Given the description of an element on the screen output the (x, y) to click on. 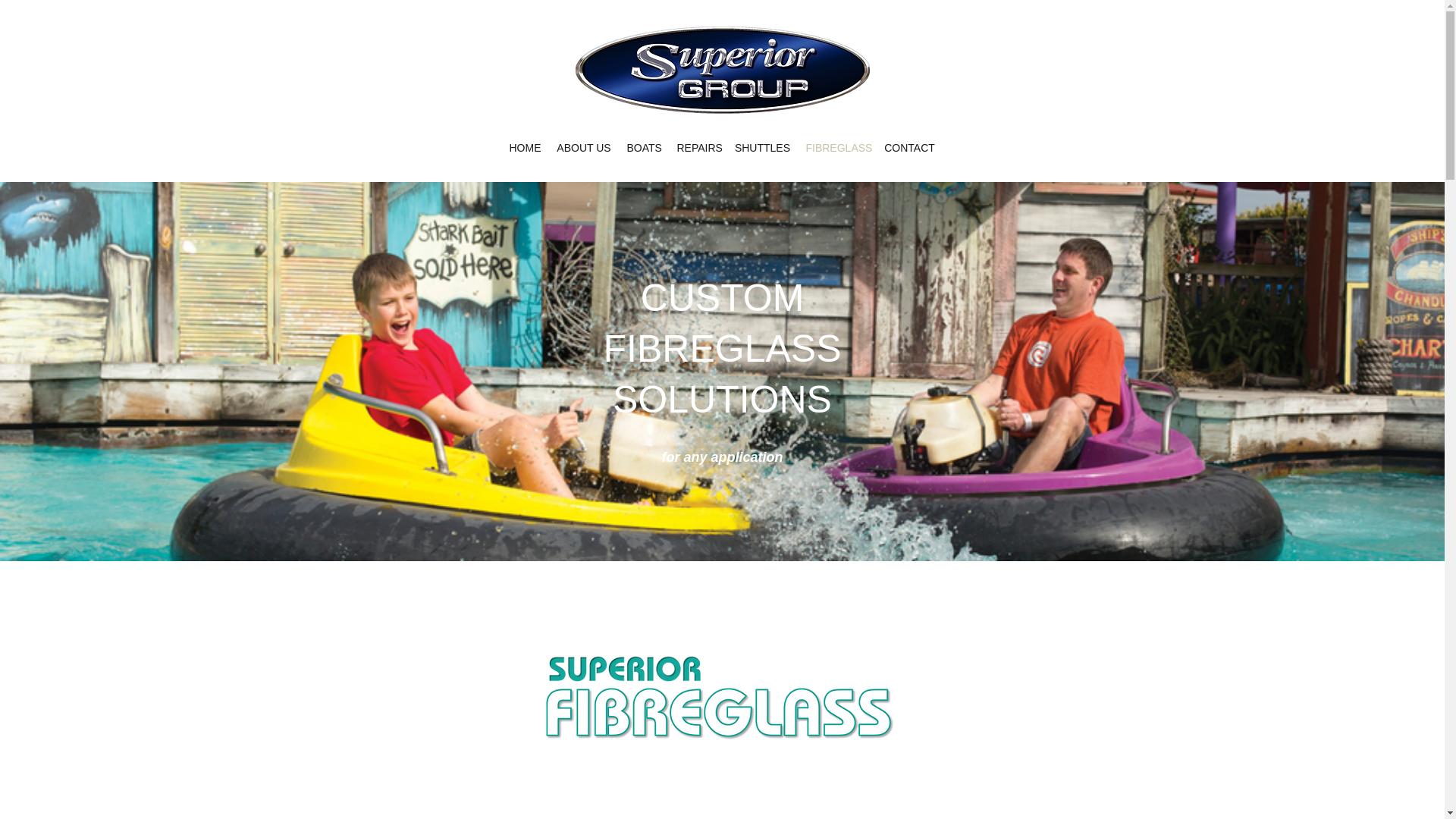
SHUTTLES (761, 147)
REPAIRS (697, 147)
FIBREGLASS (836, 147)
CONTACT (909, 147)
ABOUT US (583, 147)
HOME (524, 147)
BOATS (643, 147)
